Given the description of an element on the screen output the (x, y) to click on. 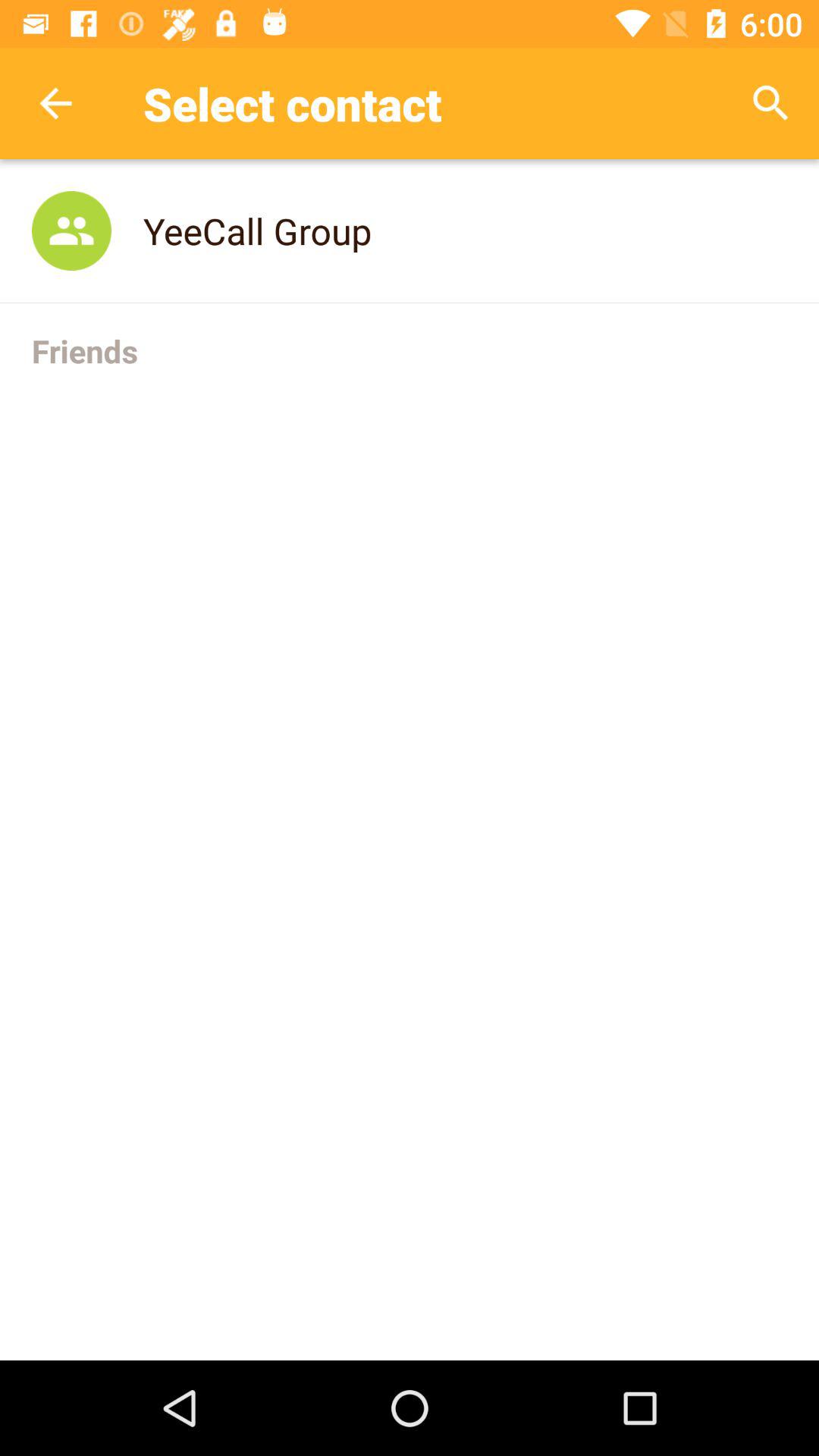
turn off item next to select contact app (55, 103)
